Given the description of an element on the screen output the (x, y) to click on. 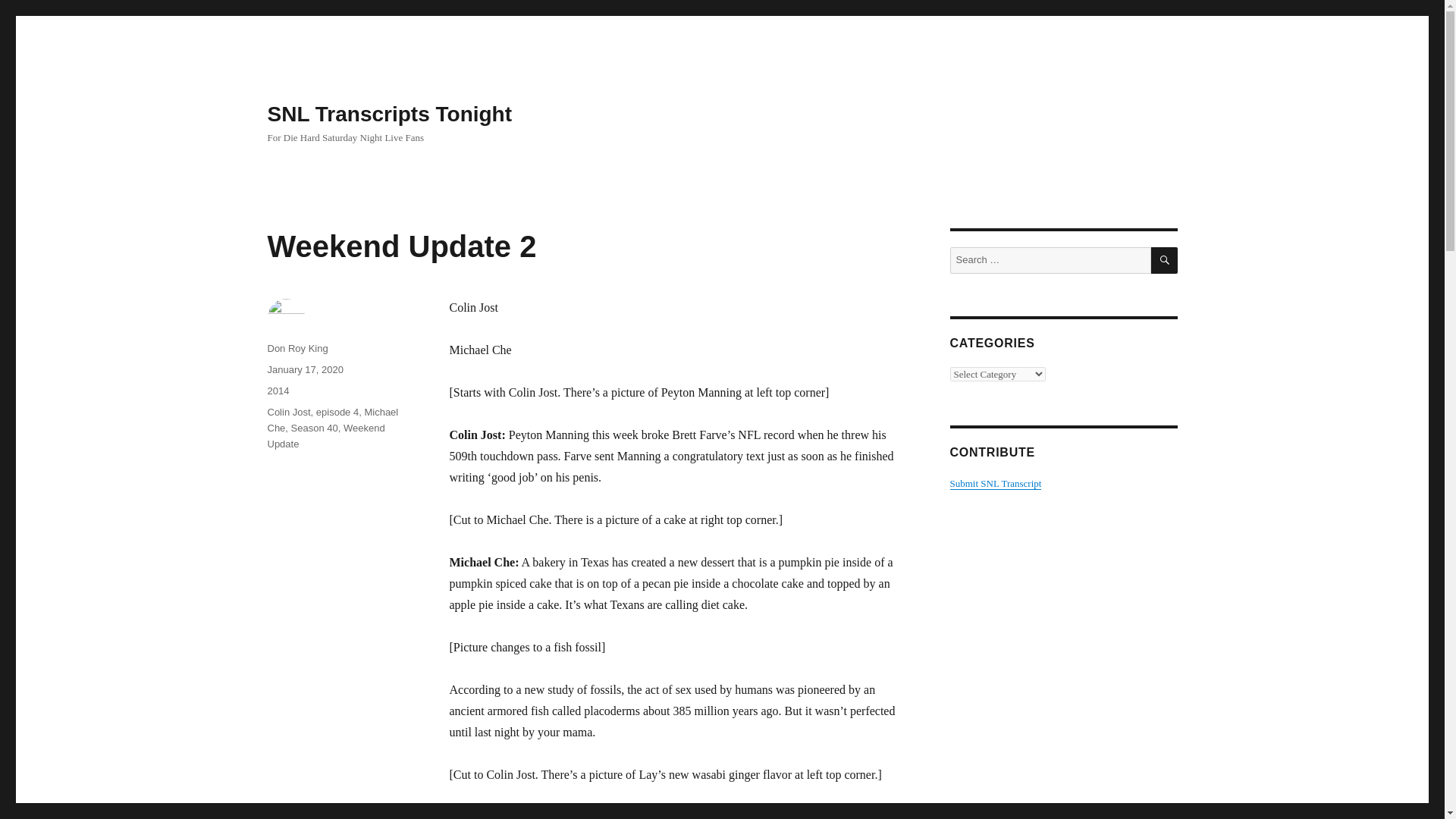
episode 4 (336, 411)
SEARCH (1164, 260)
Season 40 (314, 428)
Michael Che (331, 420)
Don Roy King (296, 348)
2014 (277, 390)
Submit SNL Transcript (995, 482)
Colin Jost (288, 411)
Weekend Update (325, 435)
January 17, 2020 (304, 369)
SNL Transcripts Tonight (389, 114)
